Given the description of an element on the screen output the (x, y) to click on. 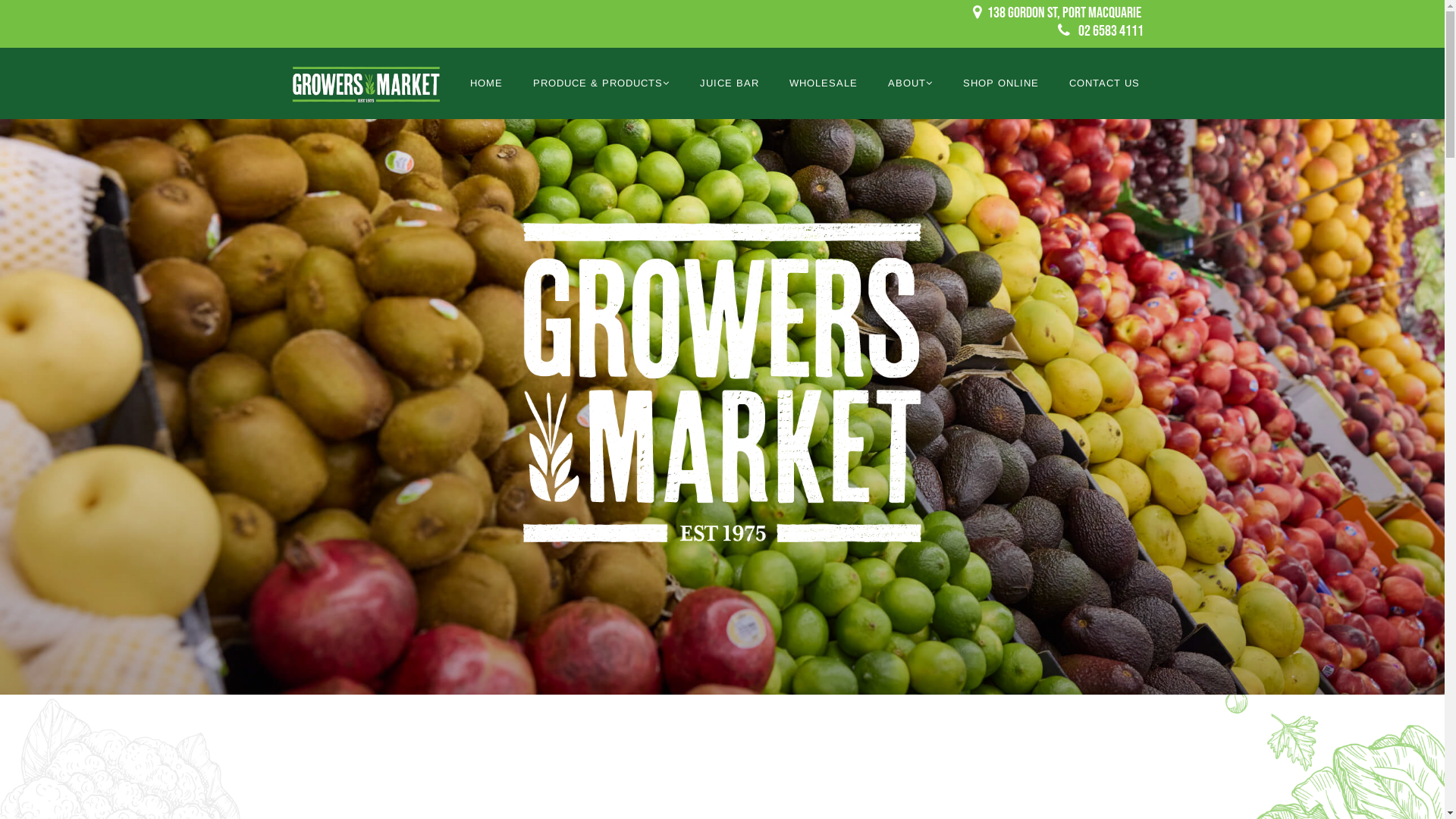
WHOLESALE Element type: text (822, 83)
ABOUT Element type: text (909, 83)
138 Gordon St, Port Macquarie Element type: text (1064, 12)
JUICE BAR Element type: text (728, 83)
CONTACT US Element type: text (1104, 83)
SHOP ONLINE Element type: text (1000, 83)
HOME Element type: text (486, 83)
PRODUCE & PRODUCTS Element type: text (600, 83)
02 6583 4111 Element type: text (1110, 30)
